Given the description of an element on the screen output the (x, y) to click on. 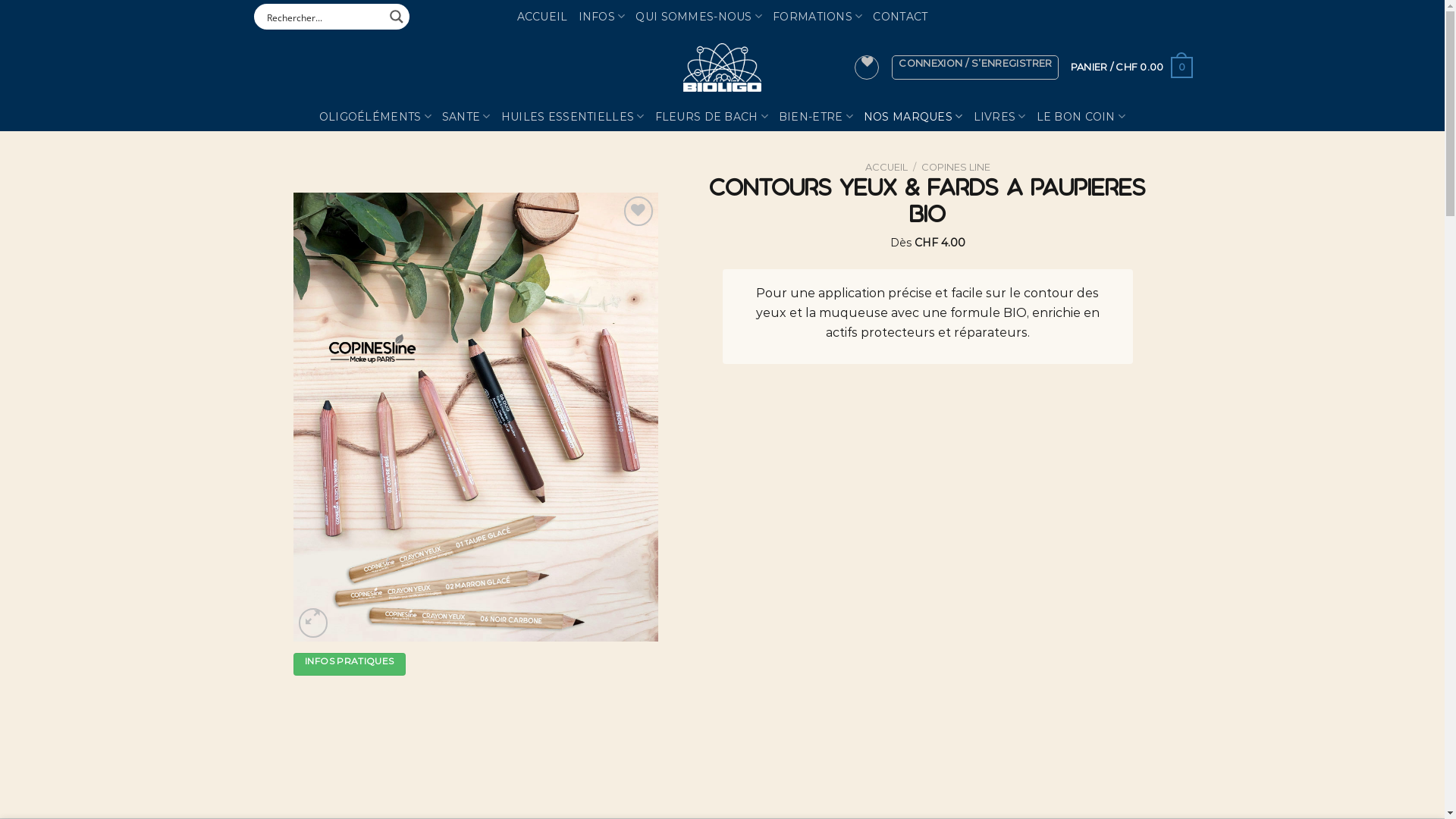
QUI SOMMES-NOUS Element type: text (698, 16)
FORMATIONS Element type: text (817, 16)
SANTE Element type: text (466, 116)
BIEN-ETRE Element type: text (815, 116)
CONTACT Element type: text (899, 16)
COPINES LINE Element type: text (955, 166)
Zoom Element type: hover (313, 622)
PANIER / CHF 0.00
0 Element type: text (1131, 67)
Yeux BIO Copines Line Laboratoires Bioligo Element type: hover (475, 416)
INFOS PRATIQUES Element type: text (349, 663)
ACCUEIL Element type: text (886, 166)
ACCUEIL Element type: text (542, 16)
LIVRES Element type: text (999, 116)
HUILES ESSENTIELLES Element type: text (572, 116)
NOS MARQUES Element type: text (913, 116)
FLEURS DE BACH Element type: text (711, 116)
LE BON COIN Element type: text (1081, 116)
INFOS Element type: text (601, 16)
